Given the description of an element on the screen output the (x, y) to click on. 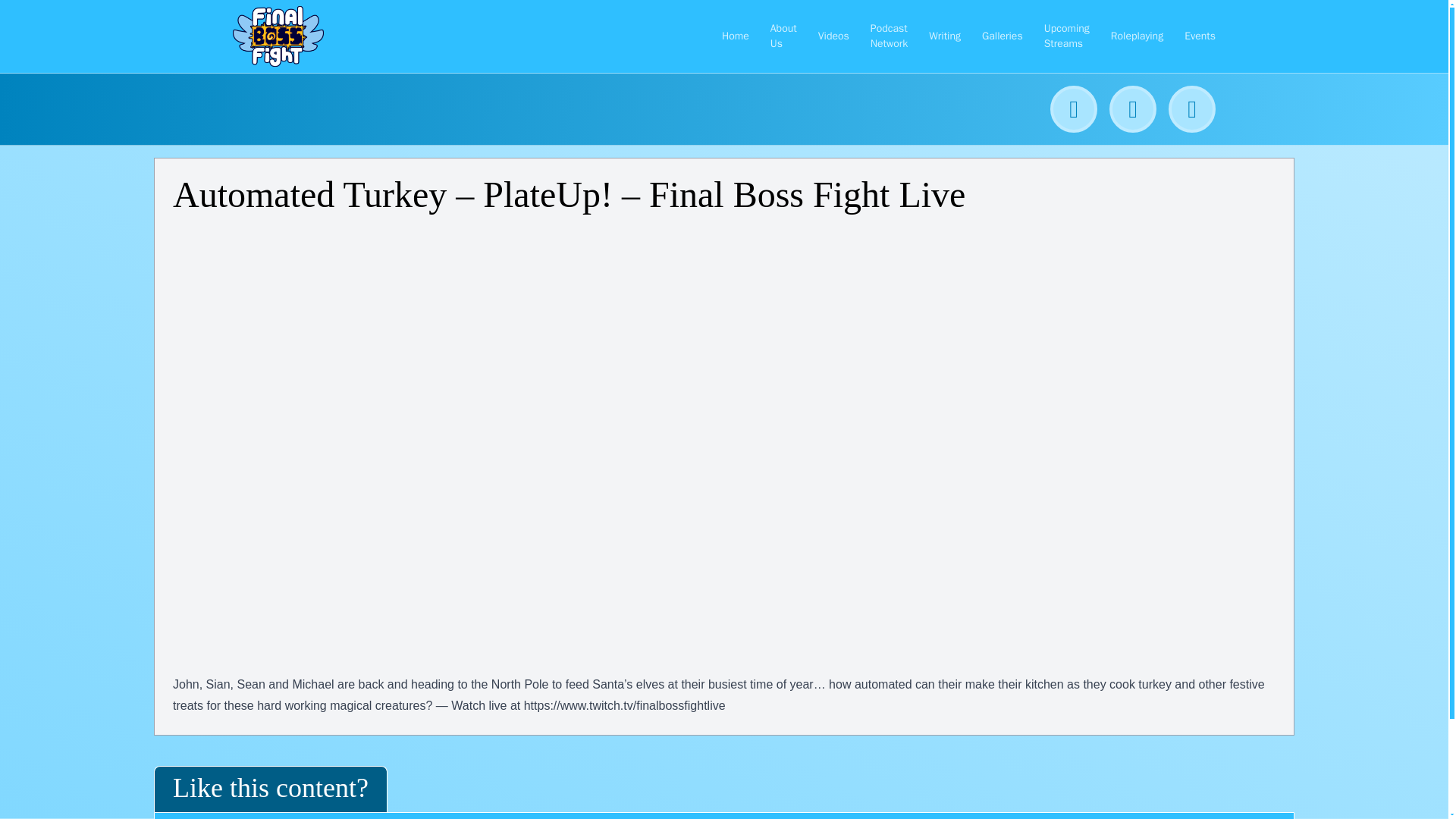
Roleplaying (1136, 35)
